Given the description of an element on the screen output the (x, y) to click on. 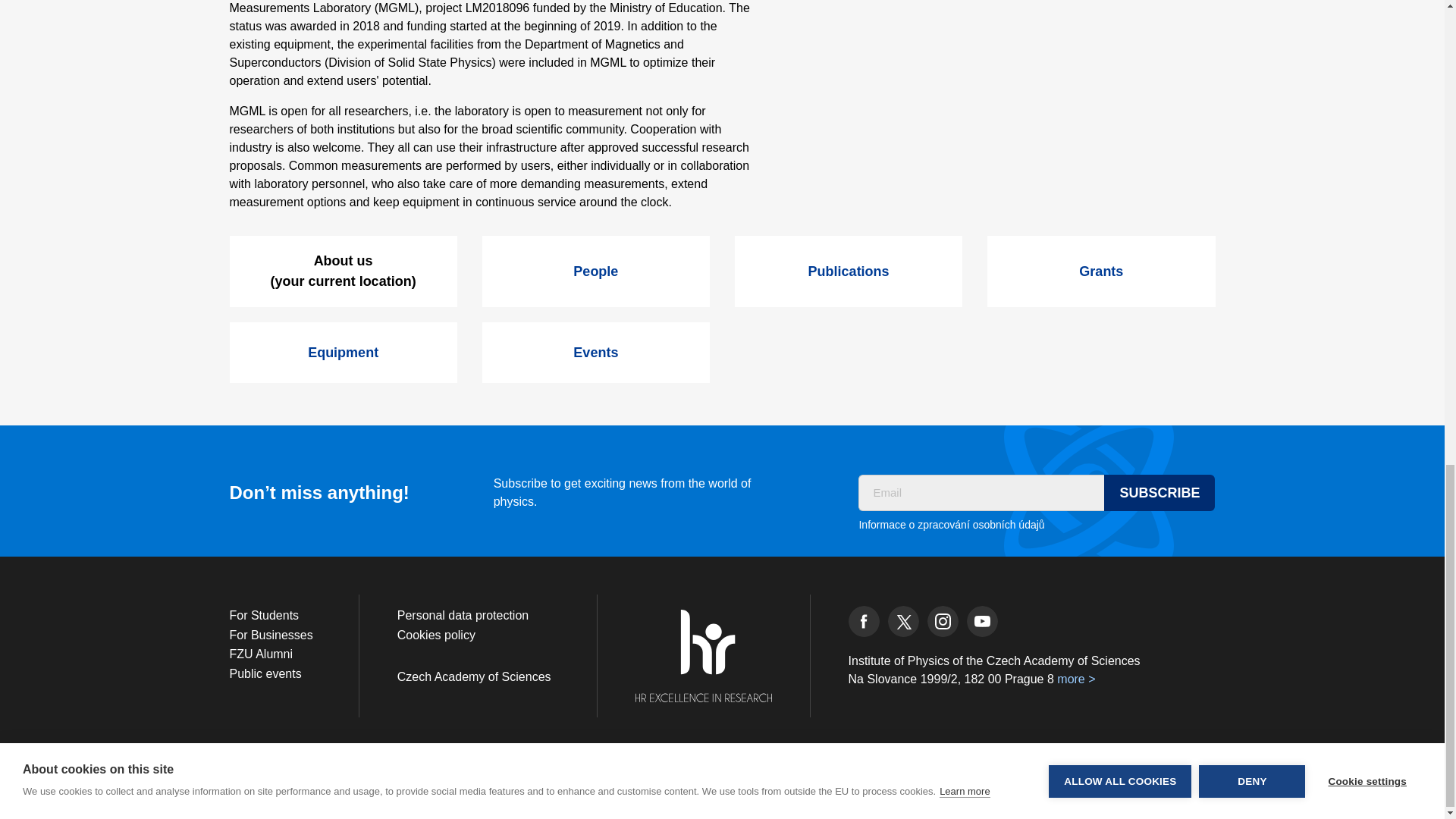
Subscribe (1158, 493)
